Given the description of an element on the screen output the (x, y) to click on. 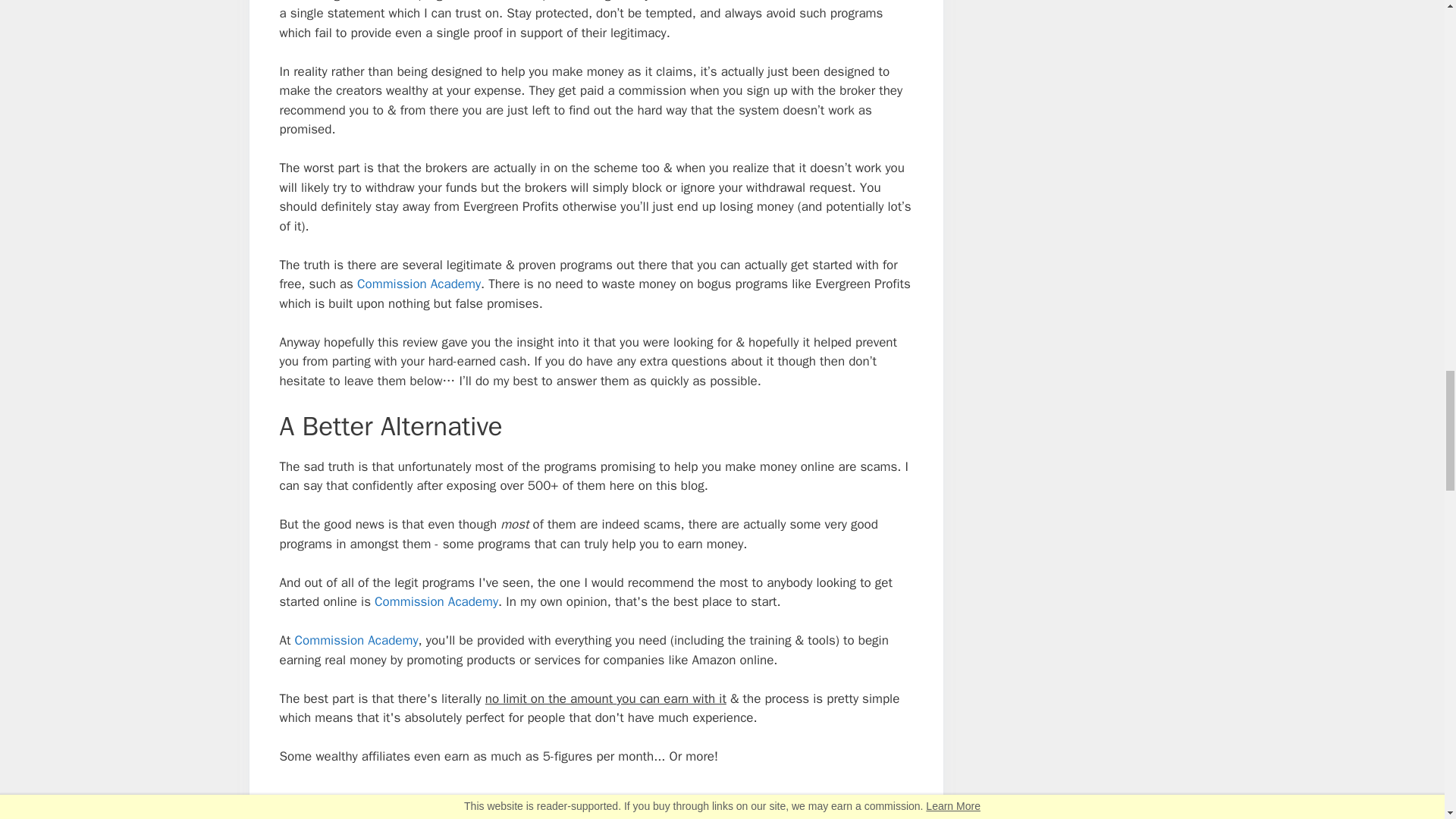
Commission Academy (435, 601)
Commission Academy (357, 640)
Commission Academy (418, 283)
